Given the description of an element on the screen output the (x, y) to click on. 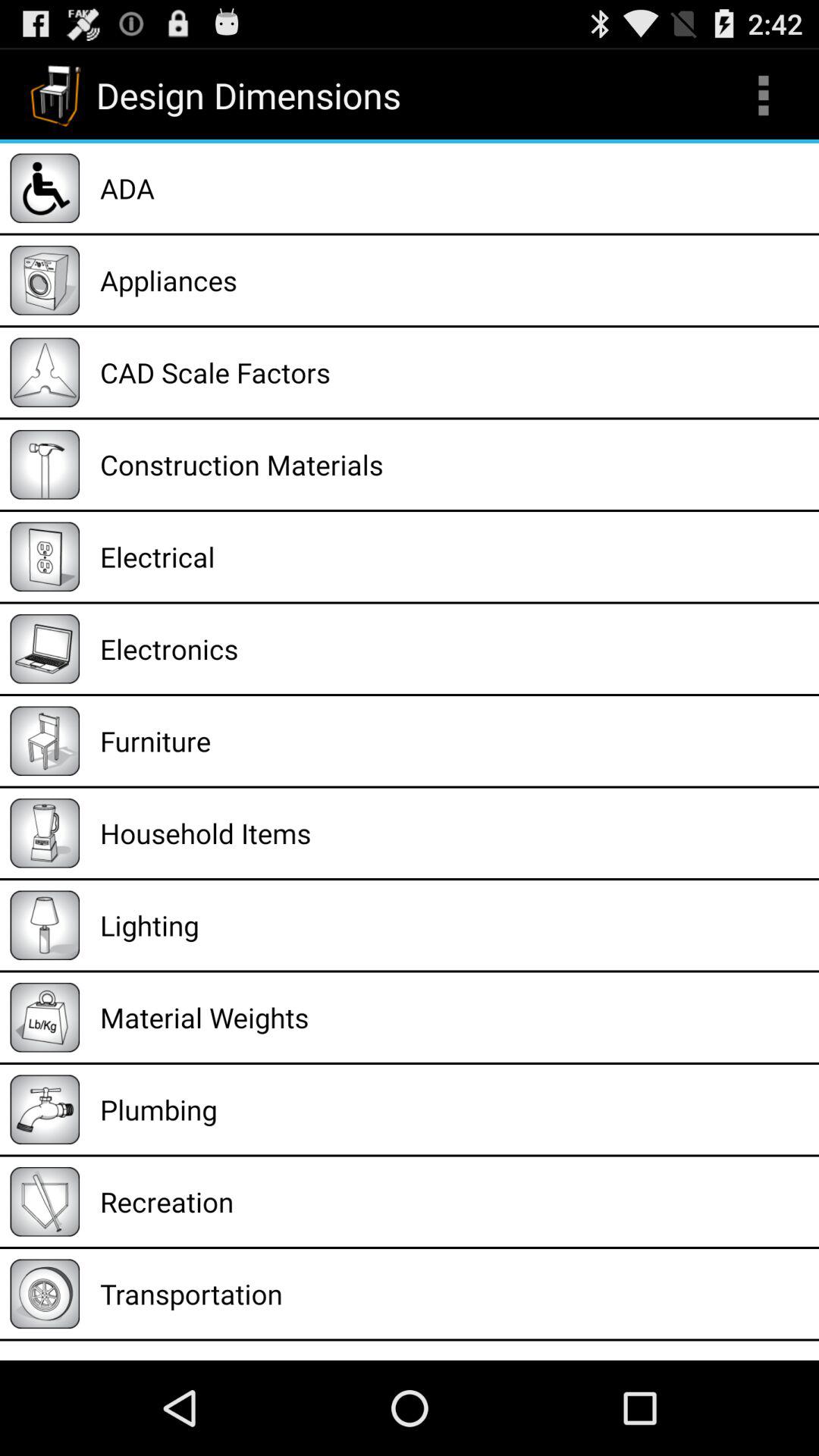
select item above the ada (763, 95)
